Given the description of an element on the screen output the (x, y) to click on. 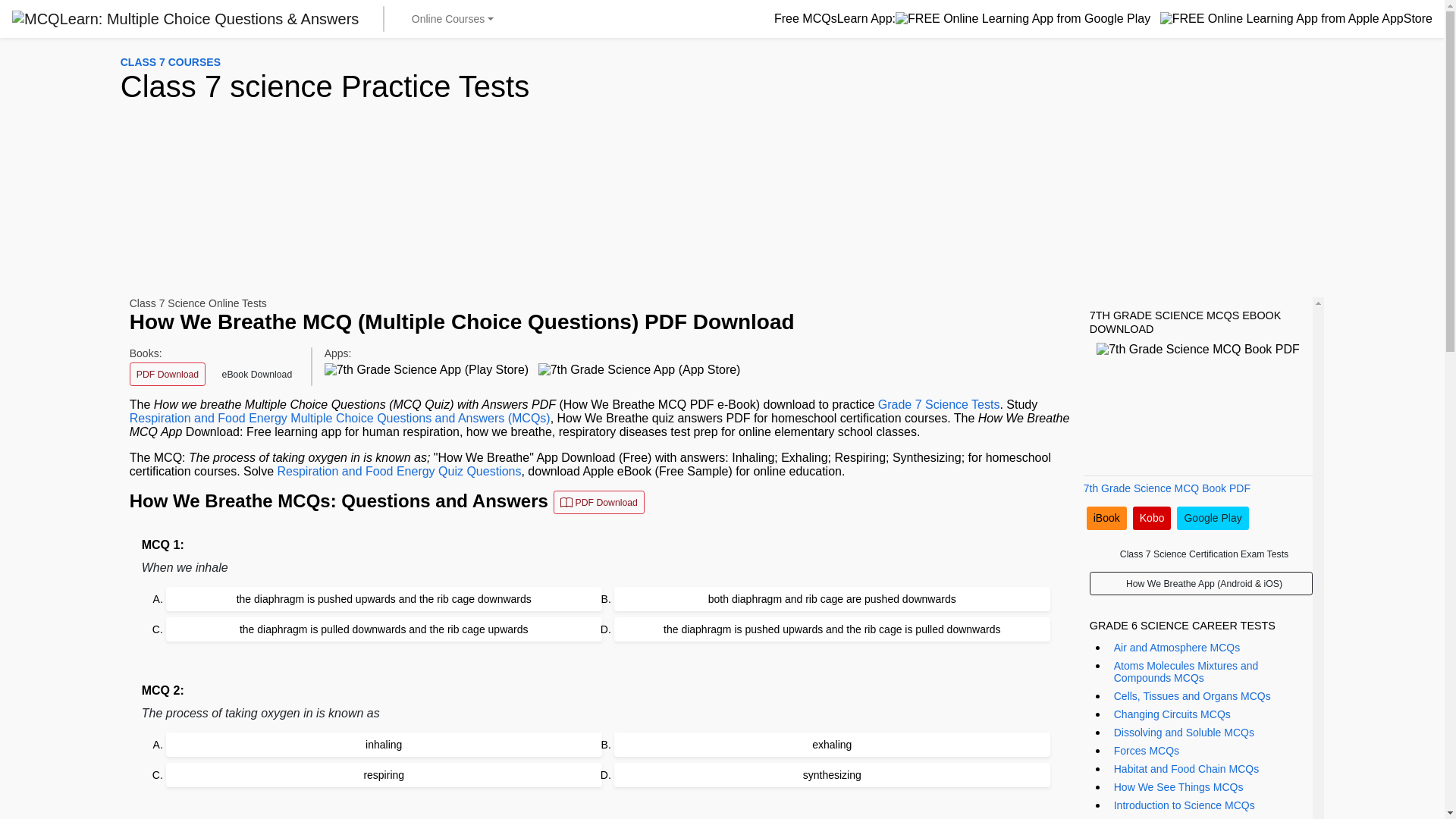
Online Courses (452, 19)
